Given the description of an element on the screen output the (x, y) to click on. 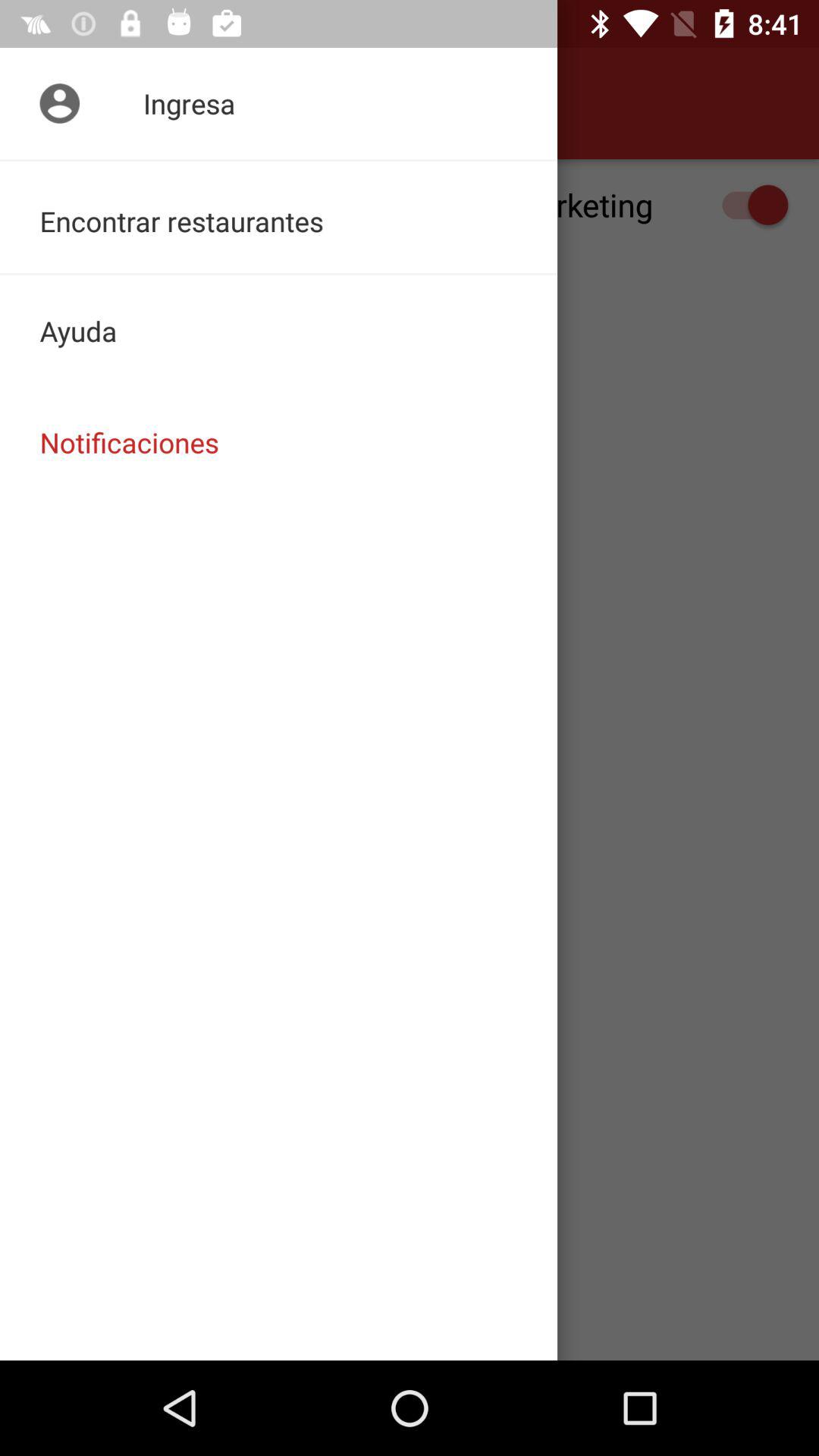
select item to the left of the notificationes (55, 103)
